Given the description of an element on the screen output the (x, y) to click on. 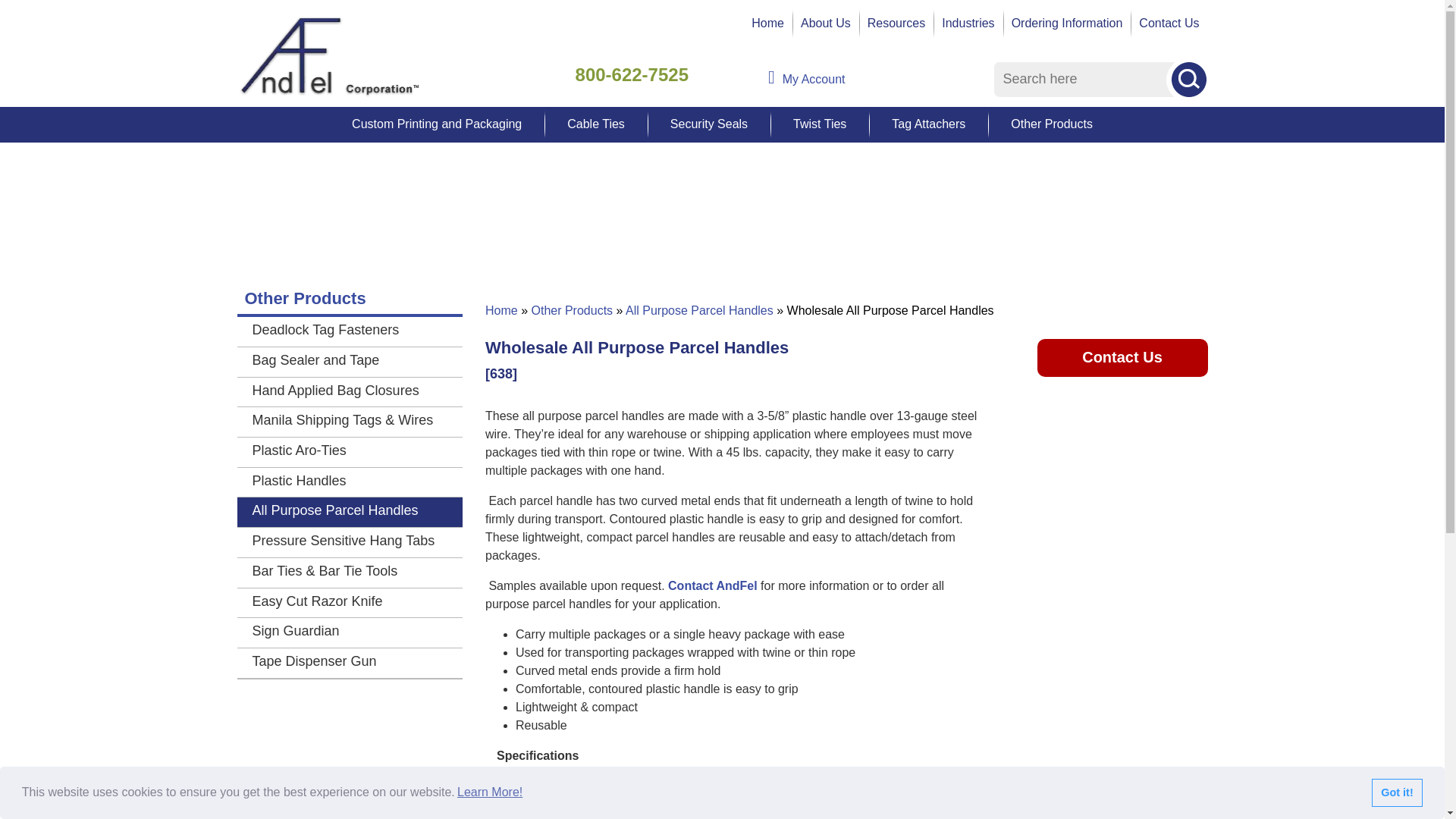
Resources (896, 23)
My Account (873, 78)
Security Seals (708, 124)
Contact Us (1169, 23)
800-622-7525 (631, 74)
Custom Printing and Packaging (436, 124)
Twist Ties (819, 124)
Other Products (1051, 124)
Tag Attachers (928, 124)
Home (767, 23)
